Given the description of an element on the screen output the (x, y) to click on. 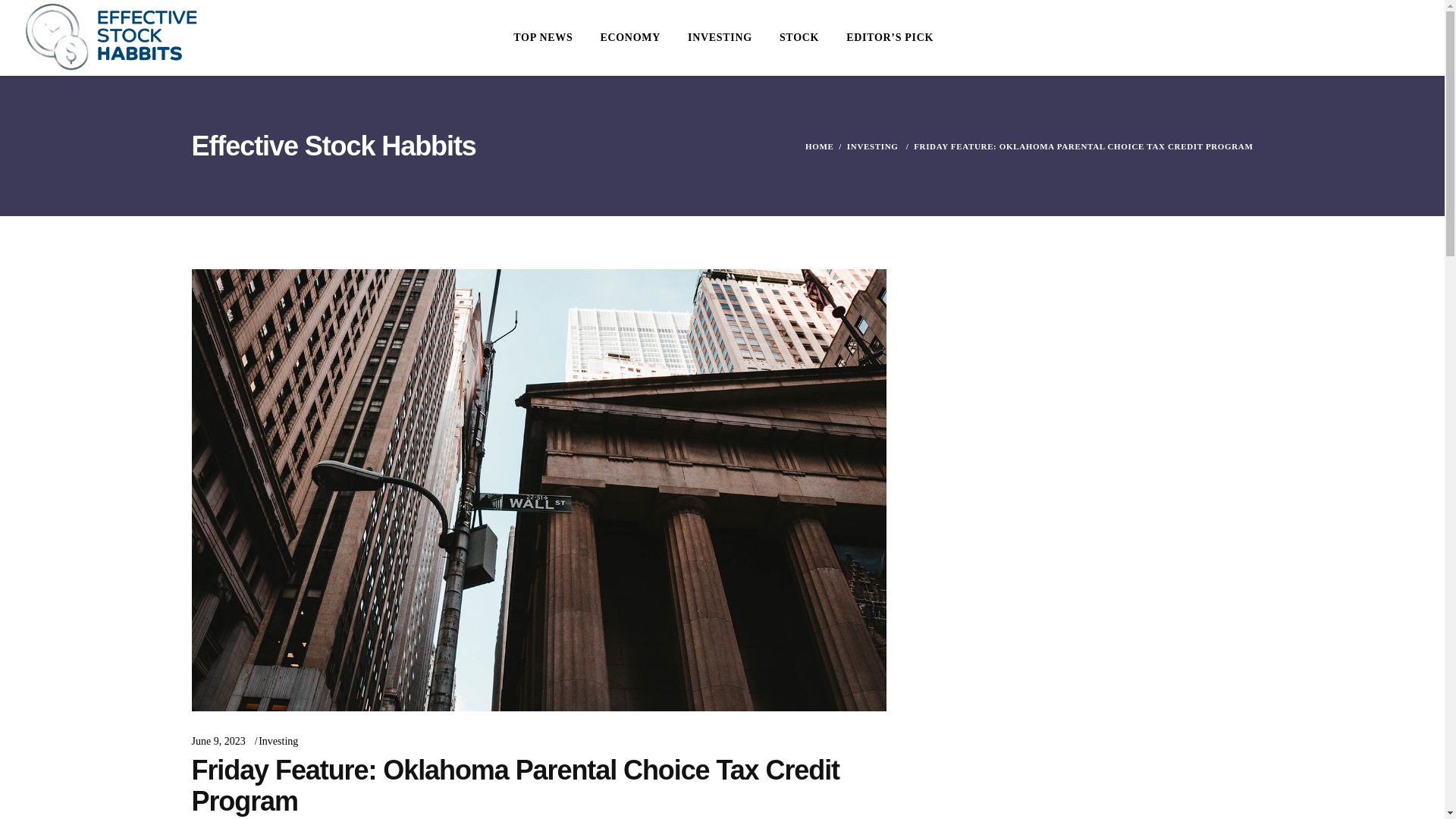
TOP NEWS (542, 38)
June 9, 2023 (217, 740)
ECONOMY (630, 38)
INVESTING (719, 38)
HOME (818, 146)
Investing (278, 740)
INVESTING (872, 146)
